Given the description of an element on the screen output the (x, y) to click on. 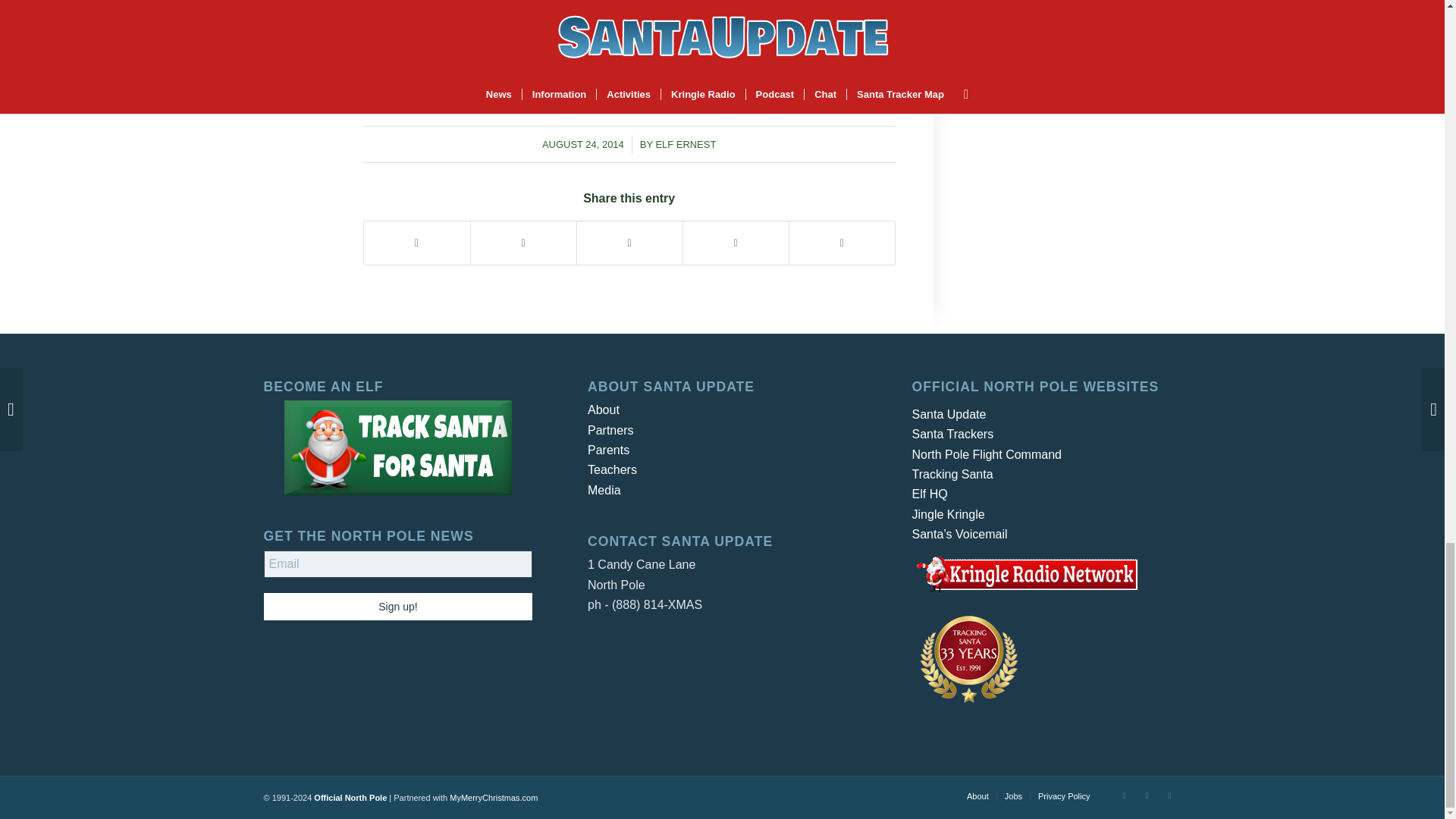
Posts by Elf Ernest (685, 143)
Sign up! (397, 605)
X (1124, 794)
Facebook (1146, 794)
Become an Elf (397, 447)
Subscribe (422, 21)
Mail (1169, 794)
